Given the description of an element on the screen output the (x, y) to click on. 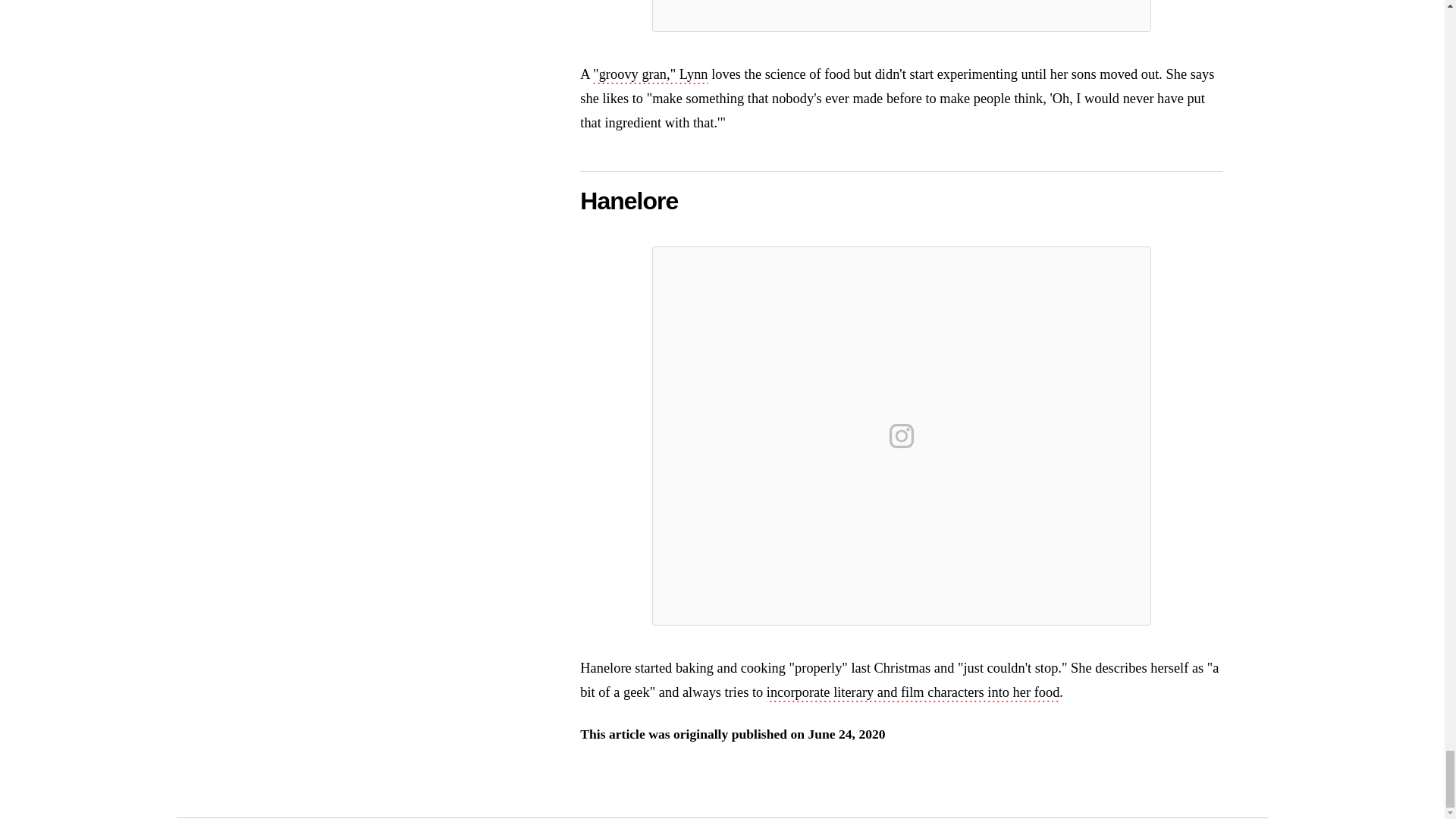
View on Instagram (901, 435)
"groovy gran," Lynn (649, 75)
